Given the description of an element on the screen output the (x, y) to click on. 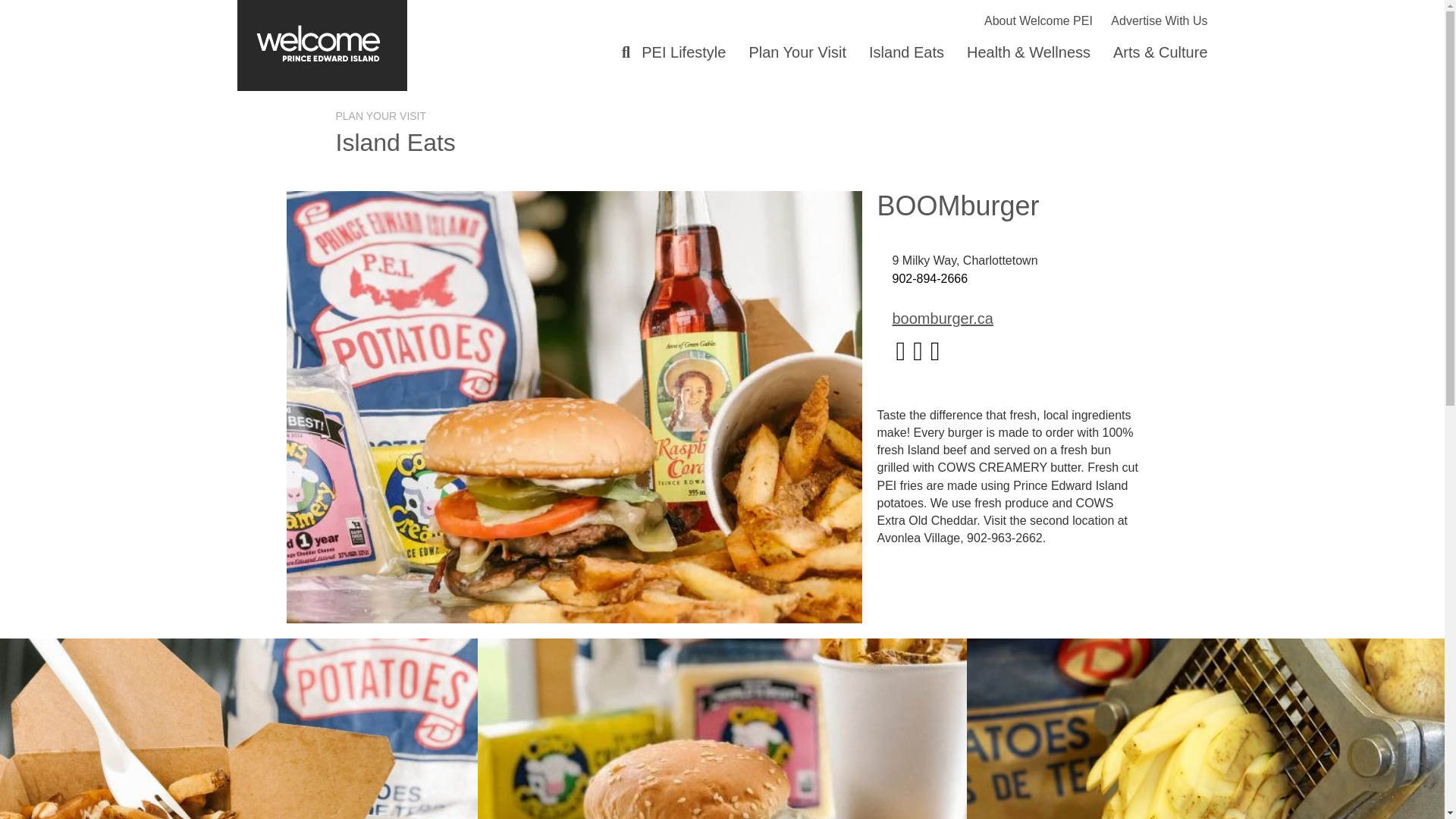
Plan Your Visit (796, 52)
Advertise With Us (1151, 20)
902-894-2666 (929, 278)
boomburger.ca (941, 318)
PEI Lifestyle (683, 52)
About Welcome PEI (1031, 20)
Island Eats (906, 52)
